Given the description of an element on the screen output the (x, y) to click on. 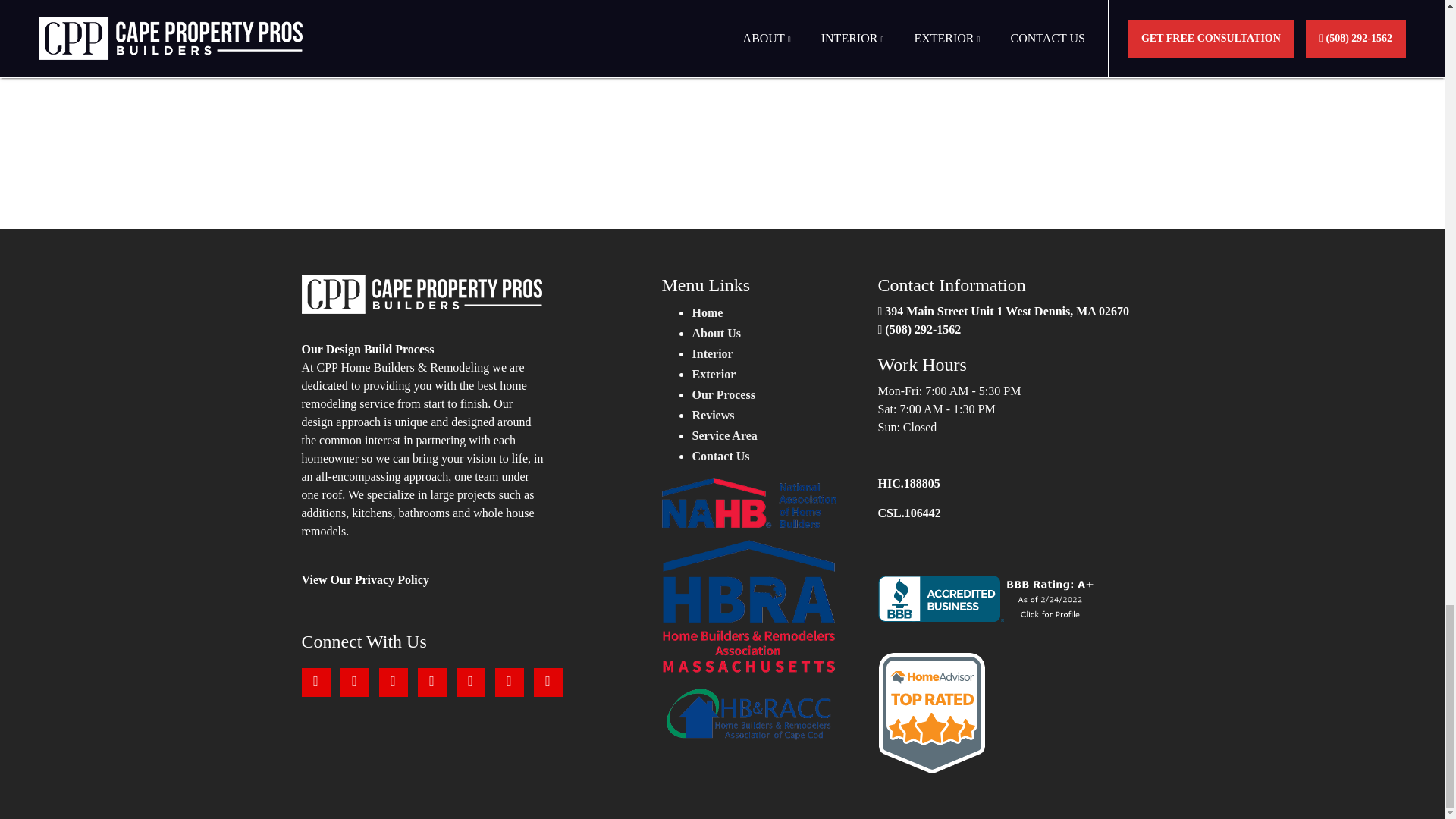
Home (706, 312)
View Our Privacy Policy (365, 579)
Interior (711, 353)
Exterior (713, 373)
About Us (715, 332)
